Given the description of an element on the screen output the (x, y) to click on. 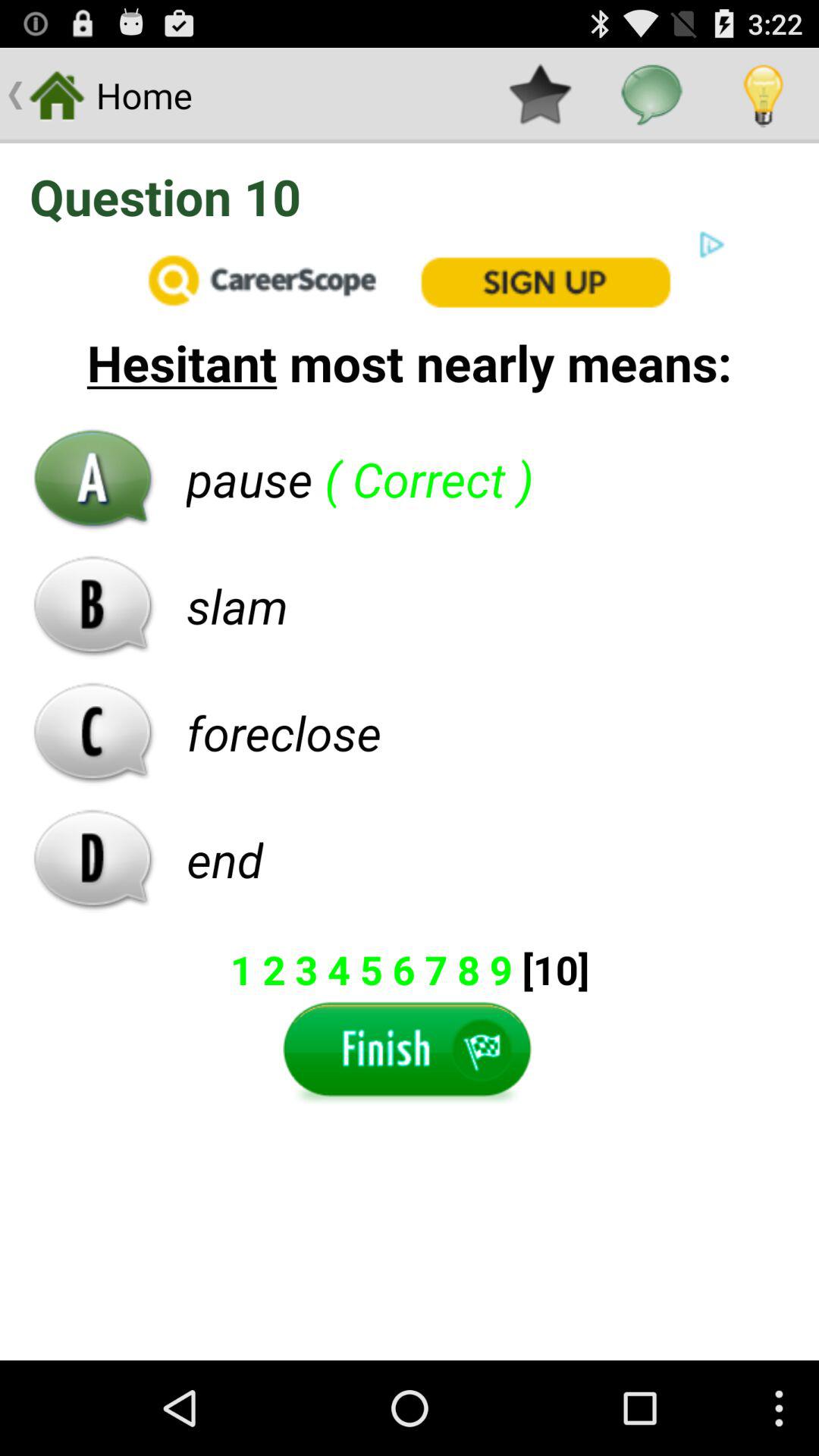
open an advertisements (409, 279)
